Given the description of an element on the screen output the (x, y) to click on. 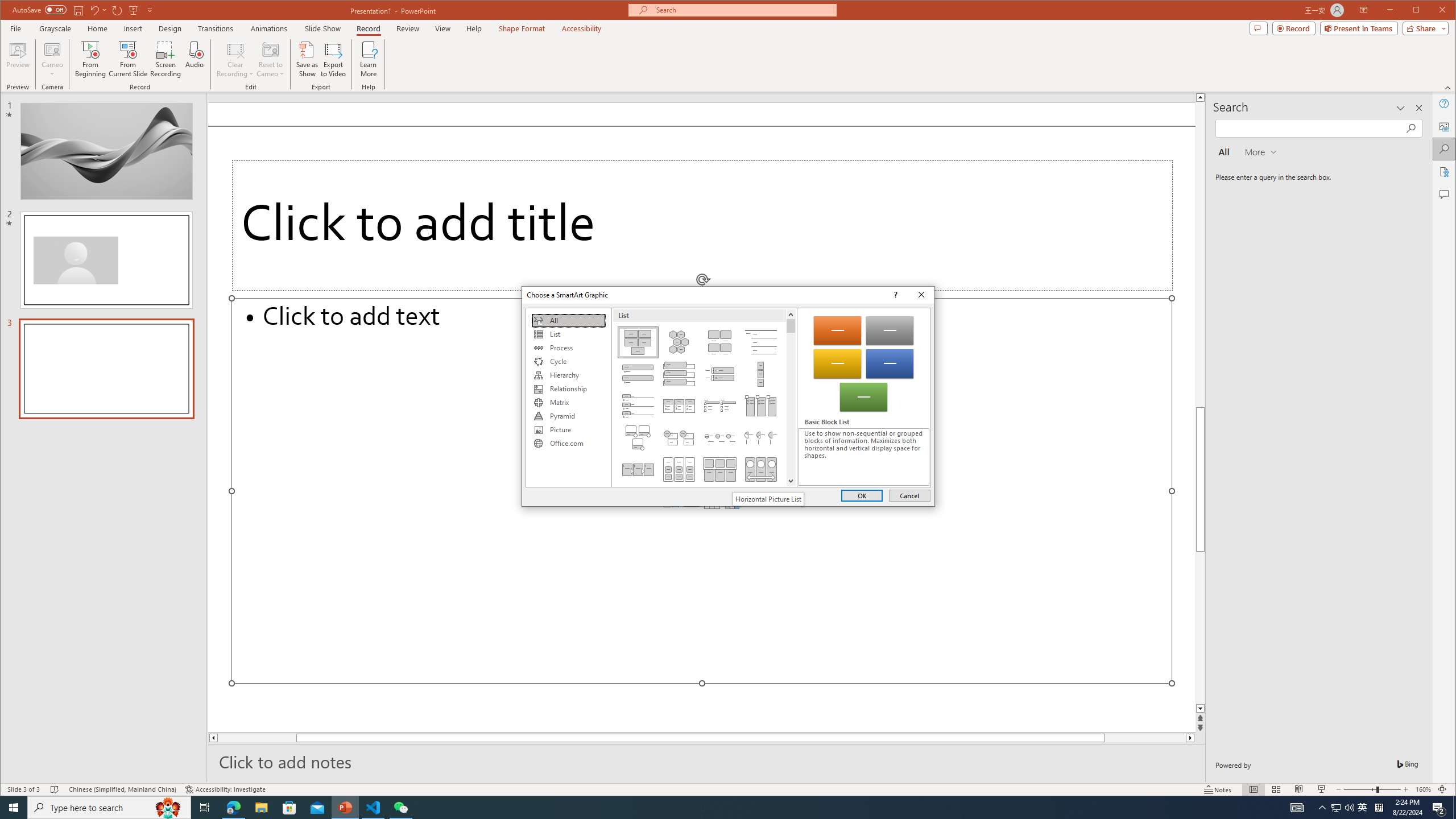
Screen Recording (165, 59)
Clear Recording (234, 59)
Picture (568, 429)
Save as Show (307, 59)
